Given the description of an element on the screen output the (x, y) to click on. 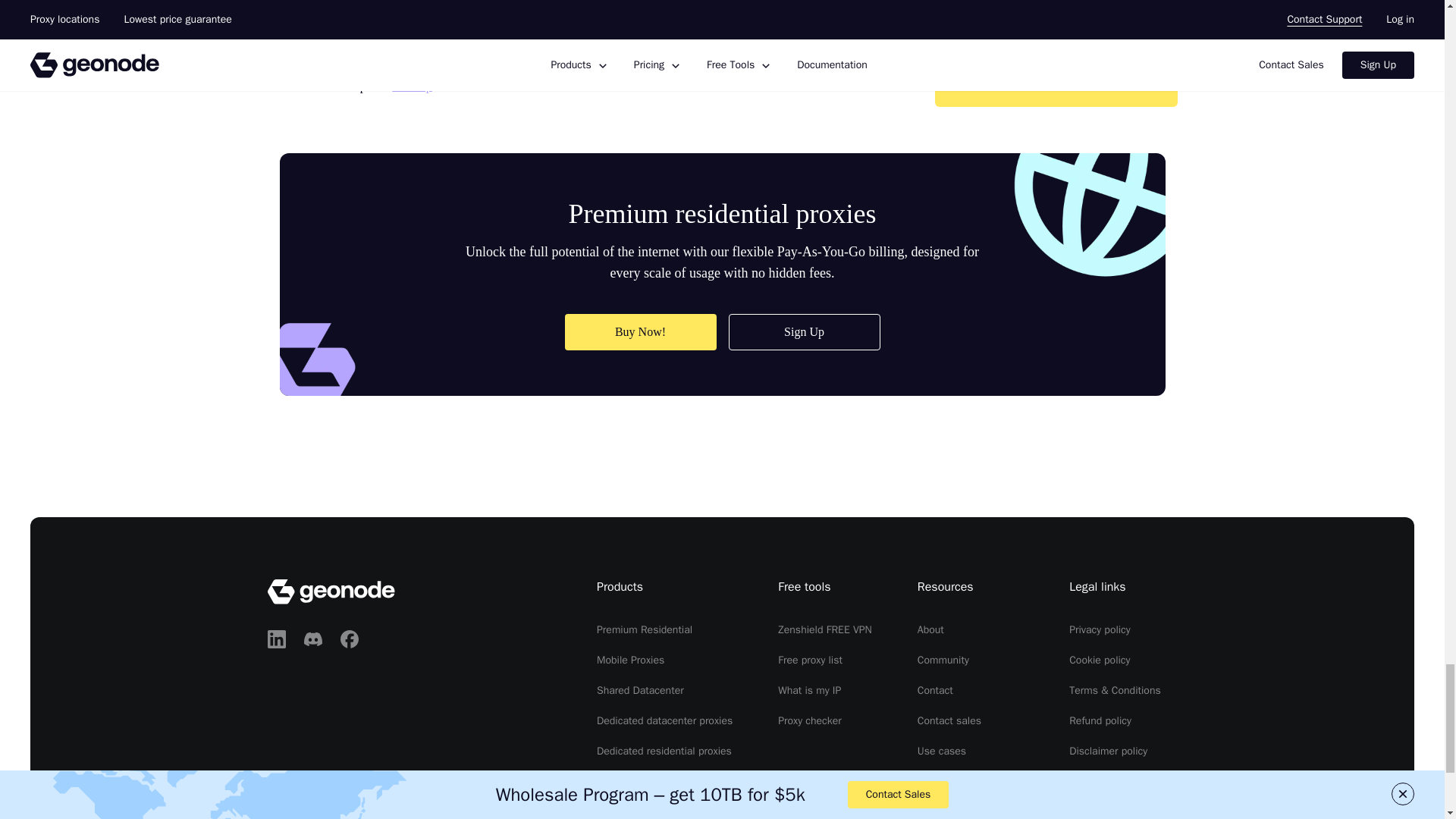
Buy Now! (640, 331)
Dedicated residential proxies (664, 750)
Shared Datacenter (640, 689)
Premium Residential (644, 629)
Mobile Proxies (629, 659)
Sign Up (803, 331)
Sitemap (410, 85)
Dedicated datacenter proxies (664, 720)
